Given the description of an element on the screen output the (x, y) to click on. 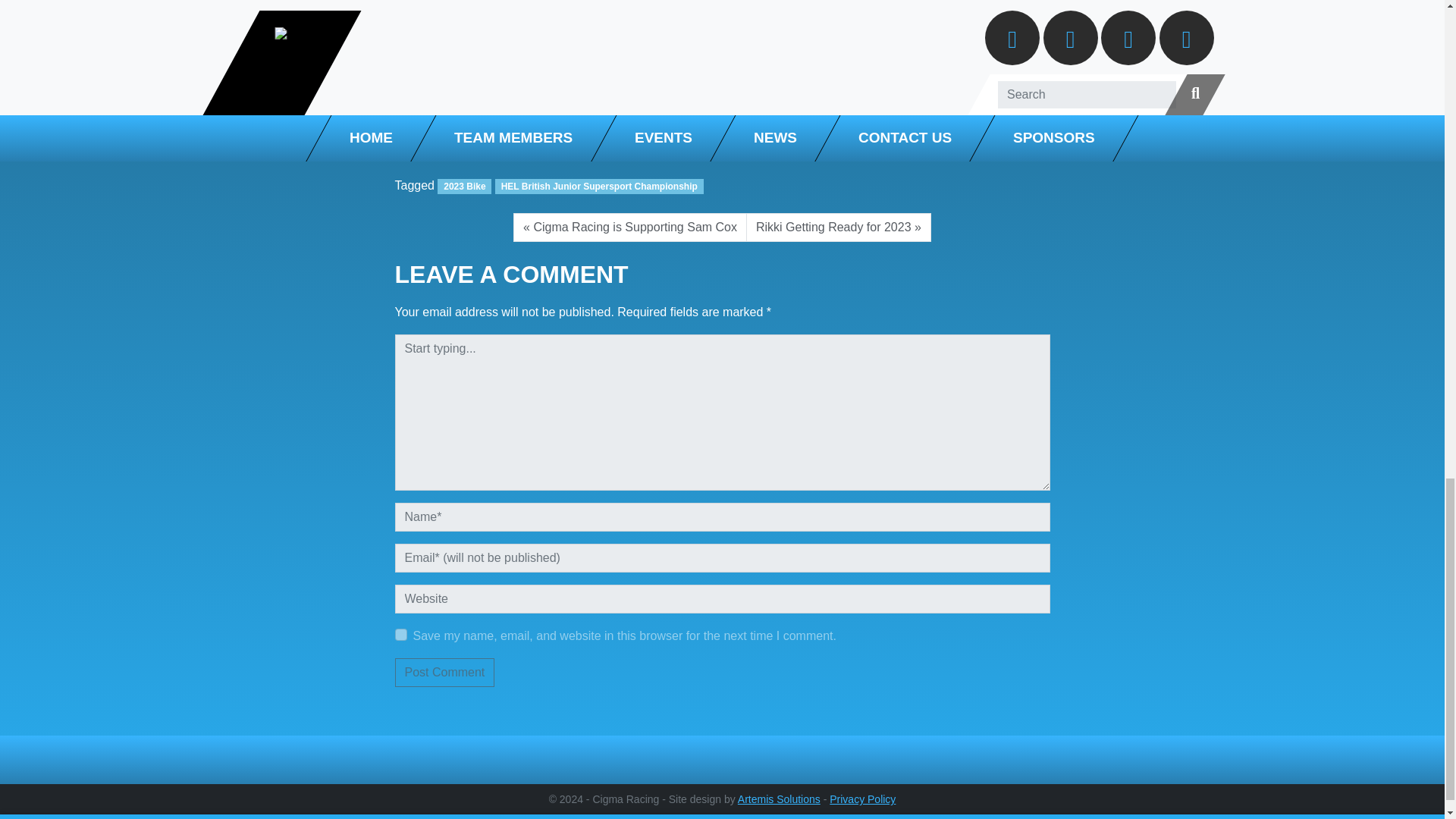
Privacy Policy (862, 799)
yes (400, 634)
Post Comment (444, 672)
MSS Performance (443, 49)
2023 Bike (465, 186)
Post Comment (444, 672)
Rikki Getting Ready for 2023 (838, 226)
HEL British Junior Supersport Championship (599, 186)
Artemis Solutions (779, 799)
